Given the description of an element on the screen output the (x, y) to click on. 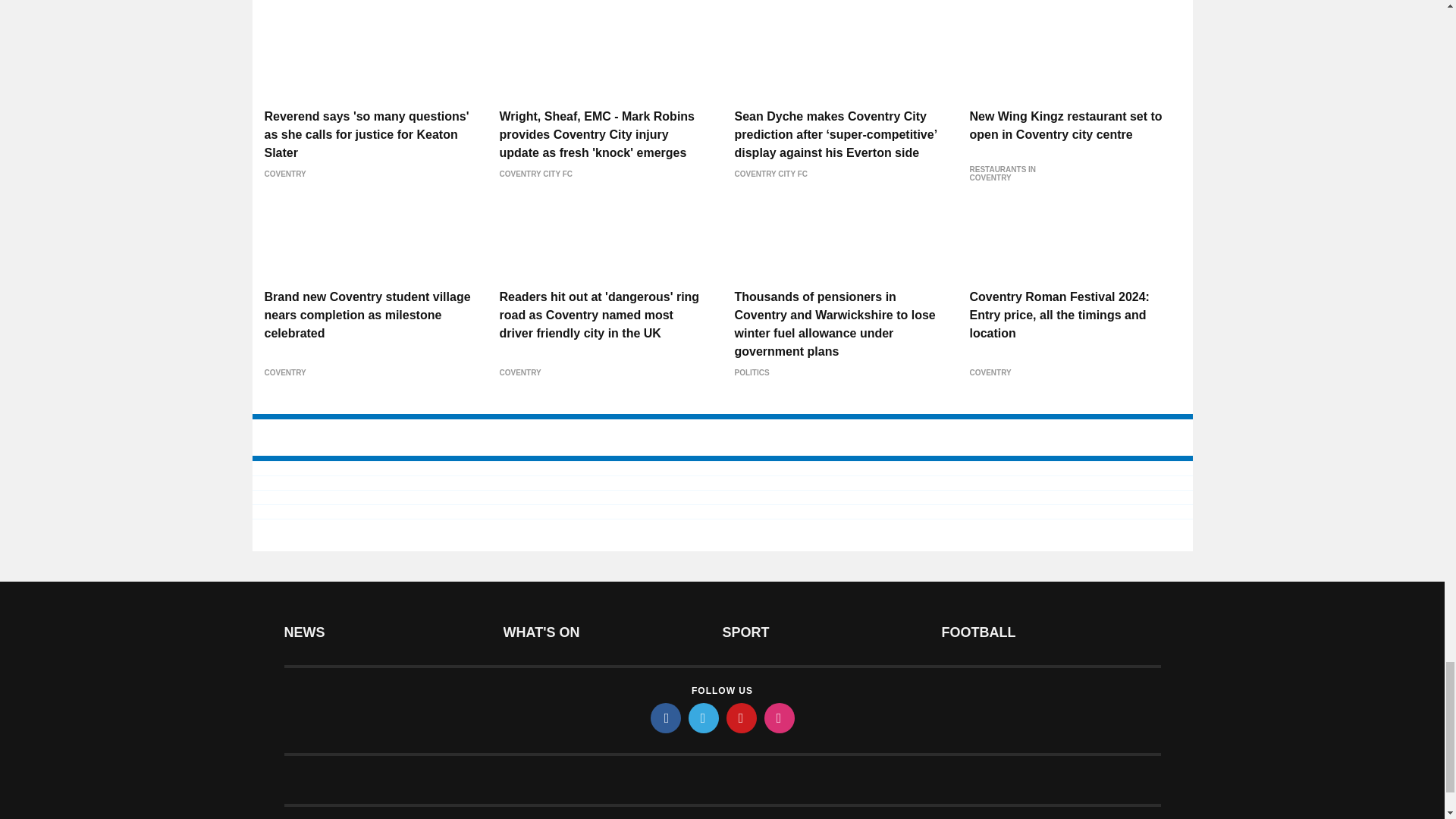
instagram (779, 717)
twitter (703, 717)
facebook (665, 717)
pinterest (741, 717)
